Given the description of an element on the screen output the (x, y) to click on. 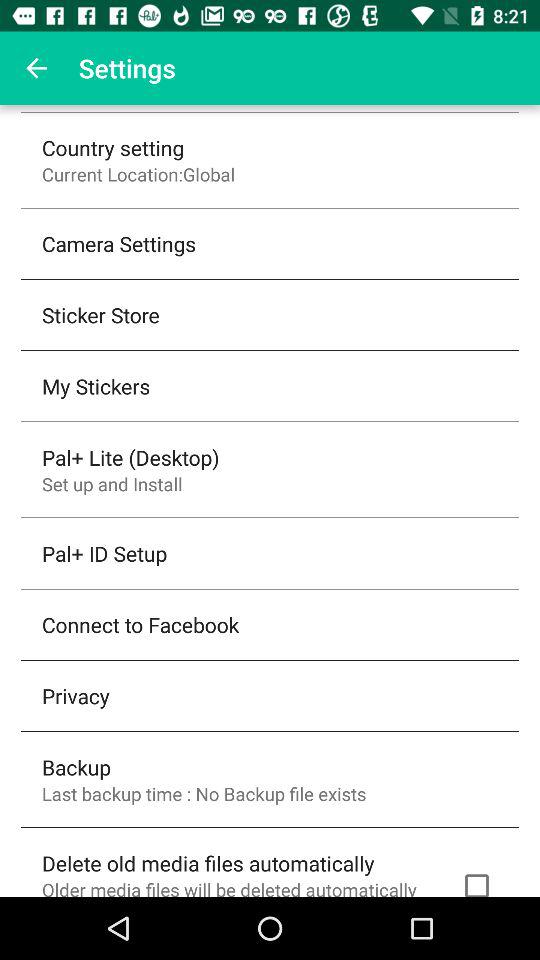
turn off icon above the my stickers item (100, 314)
